Given the description of an element on the screen output the (x, y) to click on. 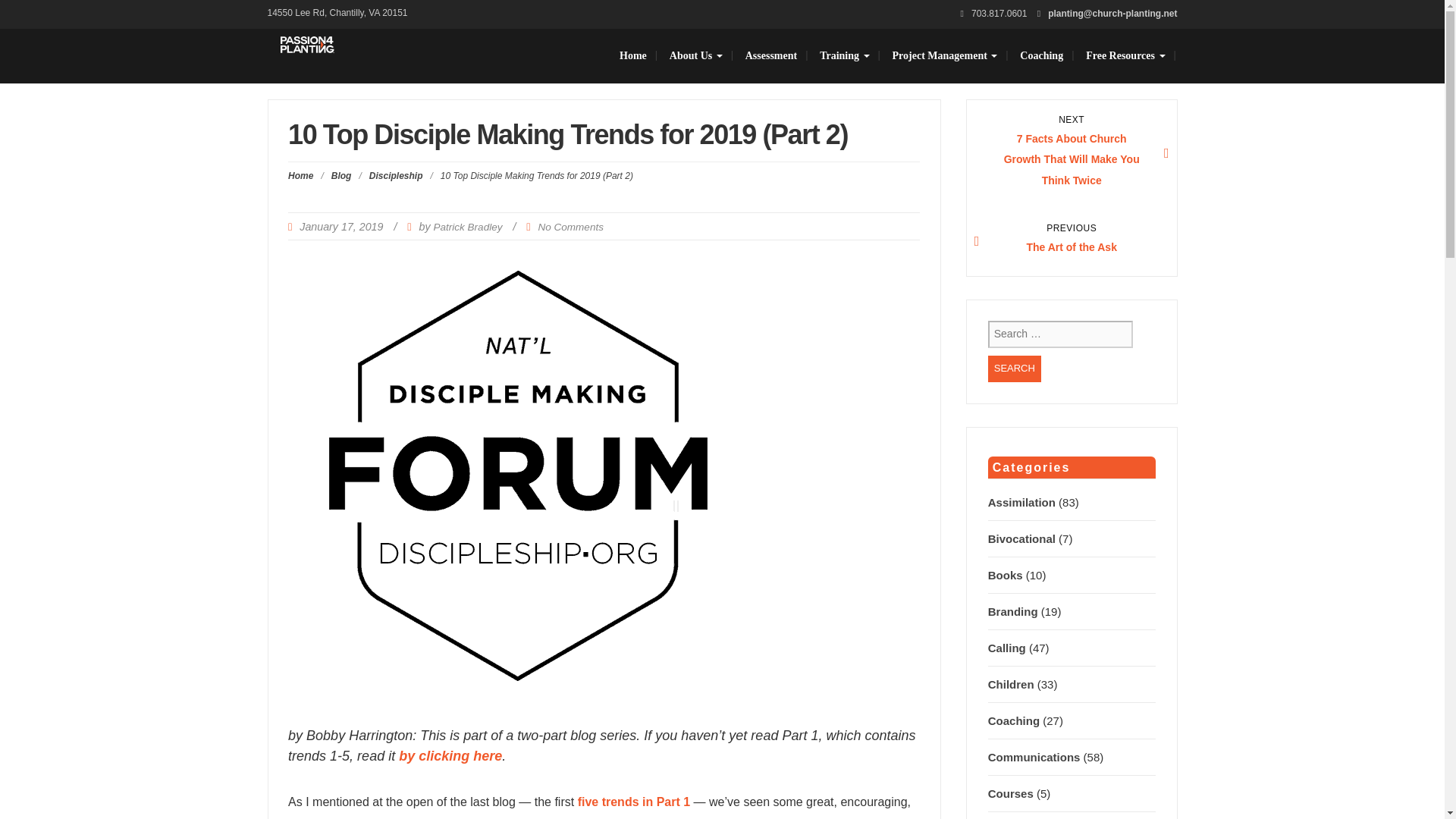
Project Management (944, 55)
Search (1014, 368)
five trends in Part 1 (1071, 242)
Search (634, 801)
Assessment (1014, 368)
Coaching (770, 55)
No Comments (1041, 55)
by clicking here (571, 226)
Discipleship (450, 755)
